Given the description of an element on the screen output the (x, y) to click on. 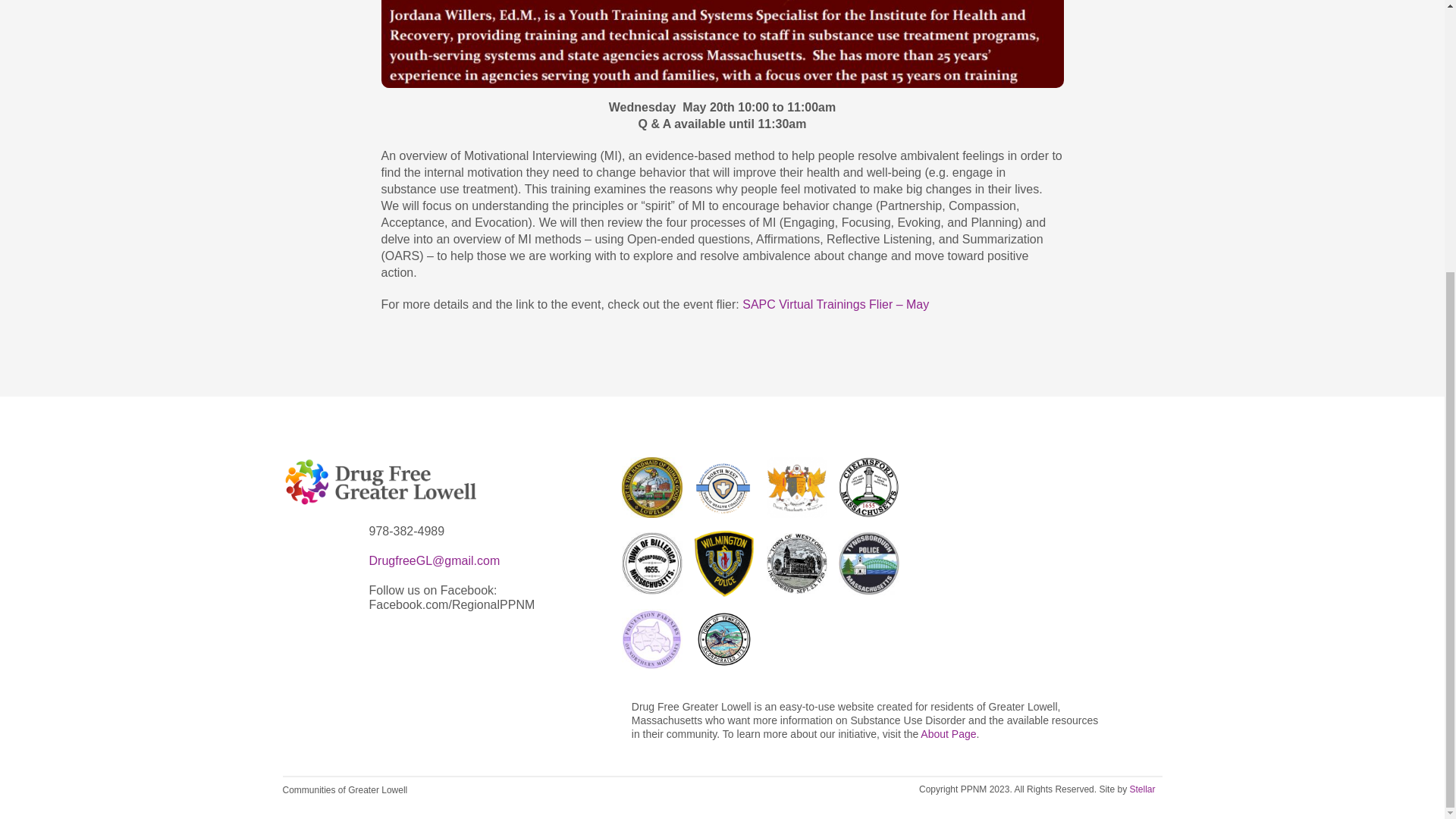
FREE TRAINING: The Spirit of Motivational Interviewing (721, 43)
